Given the description of an element on the screen output the (x, y) to click on. 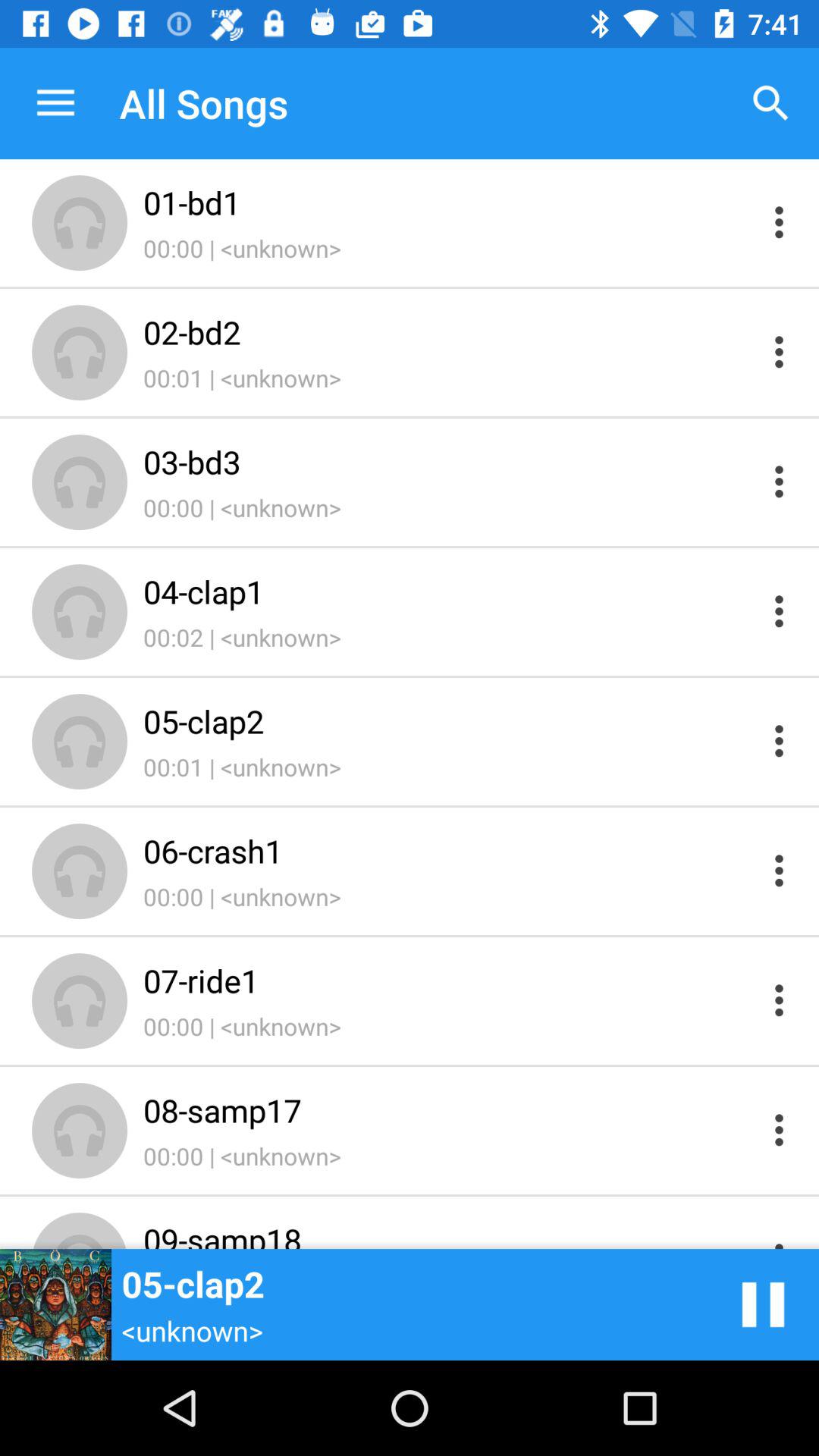
click for more options (779, 611)
